Given the description of an element on the screen output the (x, y) to click on. 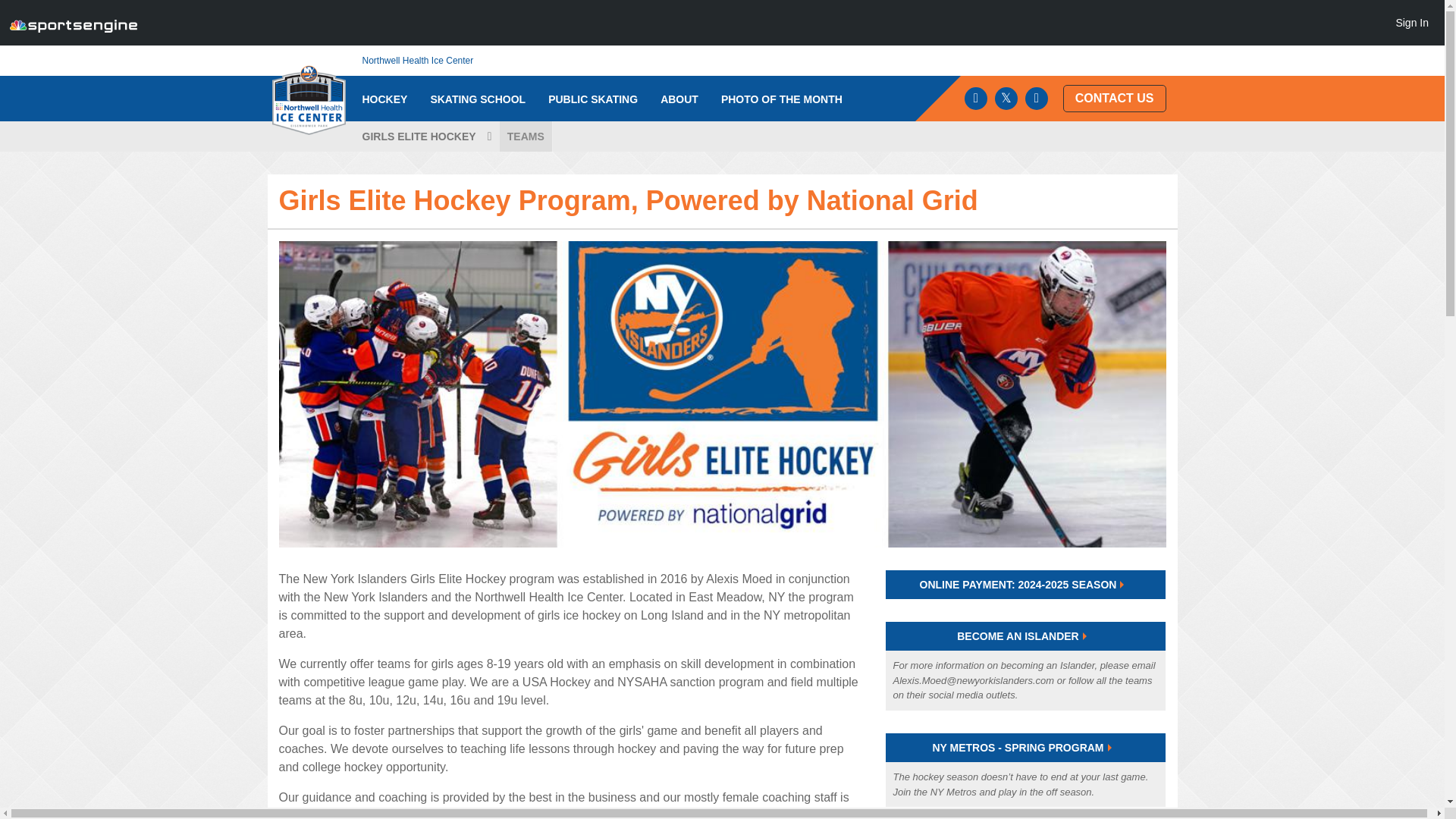
Sign In (1411, 22)
GIRLS ELITE HOCKEY (424, 136)
Facebook (975, 97)
TEAMS (525, 136)
click to go to 'Girls Elite Teams' (525, 136)
PUBLIC SKATING (593, 99)
RENT THE DEK (400, 145)
SKATING SCHOOL (478, 99)
click to go to 'The Coolest Place on Long Island' (679, 99)
Instagram (1036, 97)
X App (1005, 97)
click to go to 'Photo of the Month' (781, 99)
SportsEngine (73, 22)
PHOTO OF THE MONTH (781, 99)
click to go to 'Rent the Outdoor Dek Rink ' (400, 145)
